Given the description of an element on the screen output the (x, y) to click on. 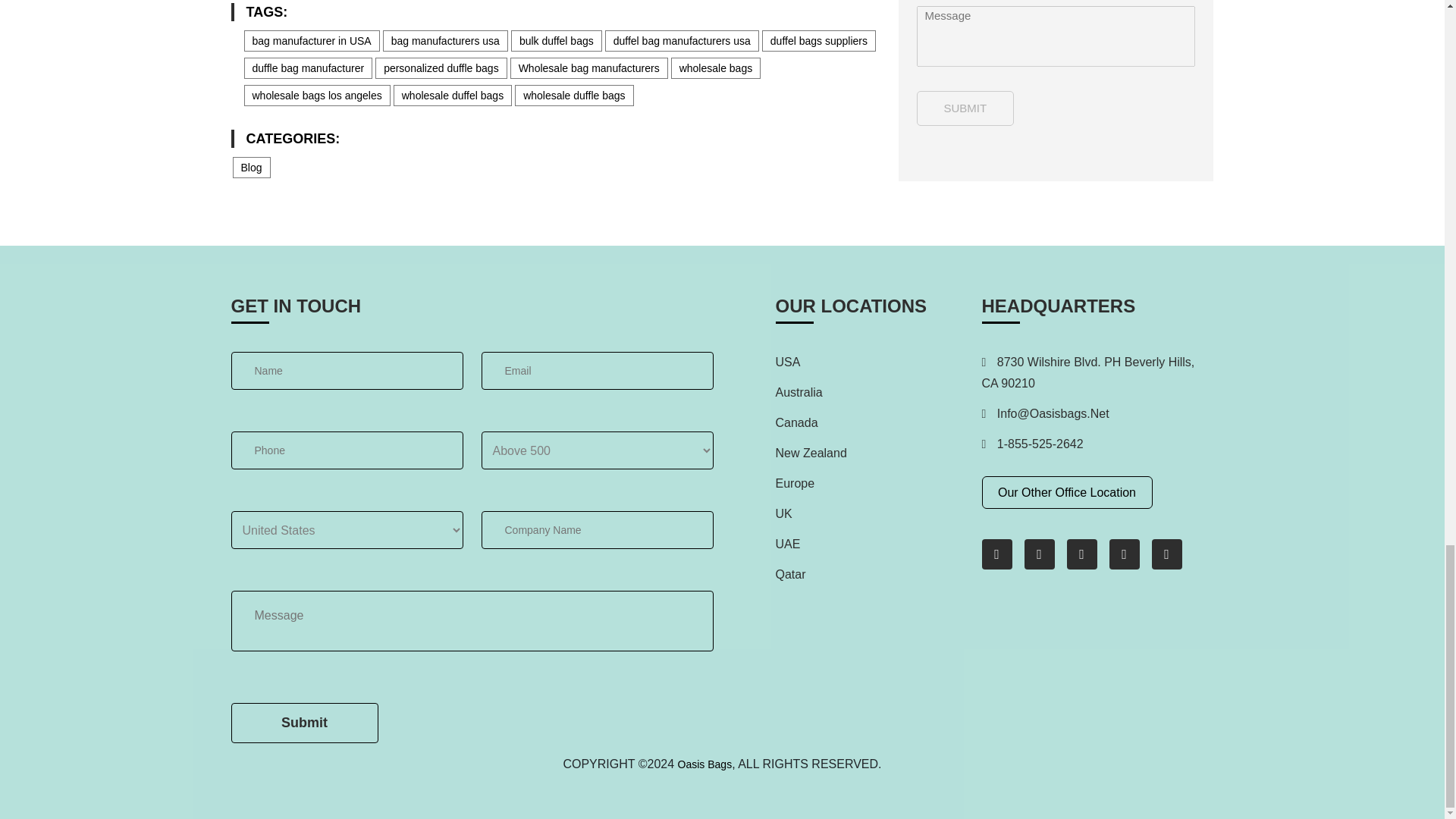
Submit (303, 722)
bag manufacturers usa (445, 40)
bag manufacturer in USA (312, 40)
